Given the description of an element on the screen output the (x, y) to click on. 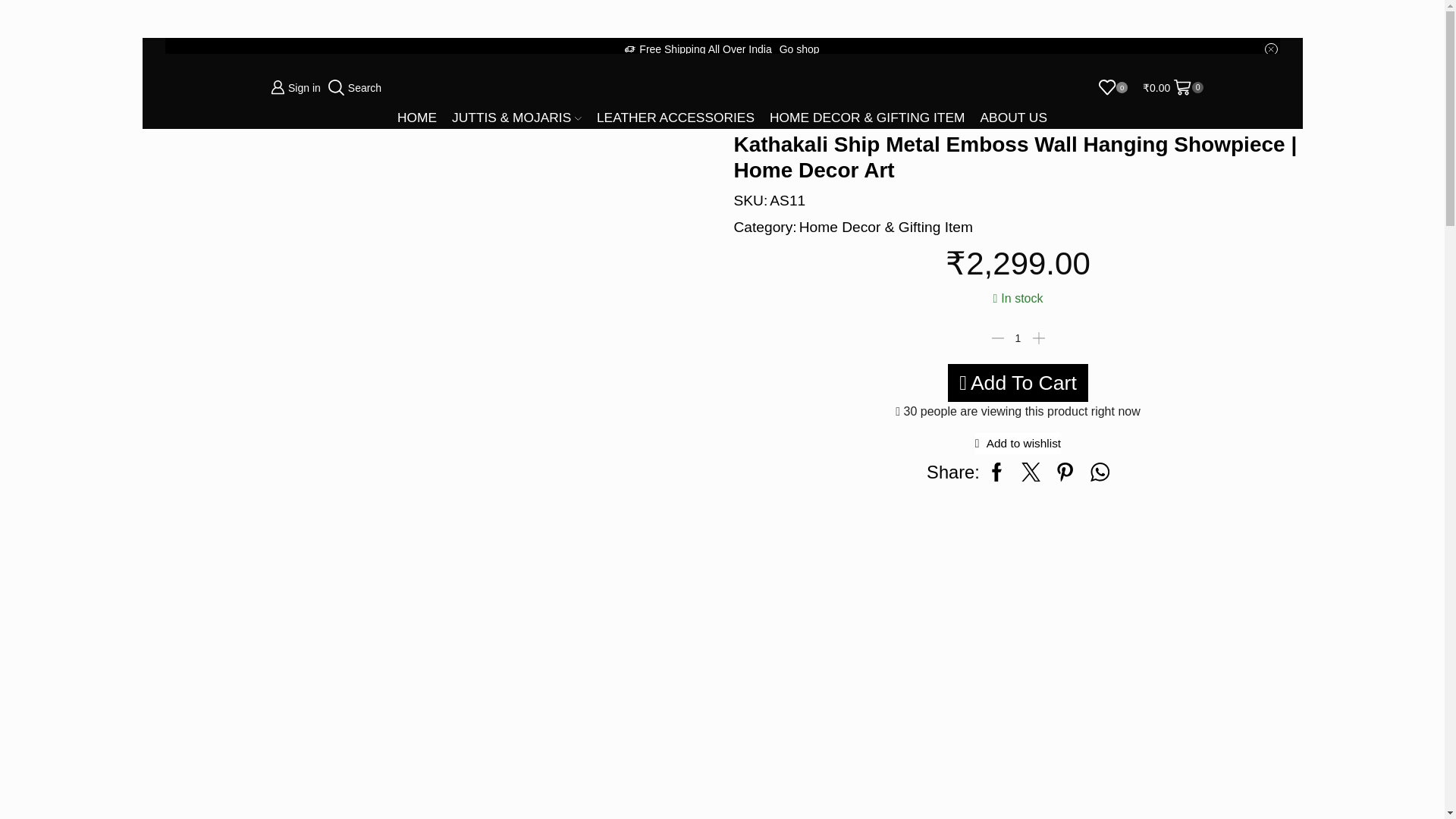
Sign in (295, 86)
0 (1112, 87)
Return to previous page (1210, 54)
Add to wishlist (1018, 443)
Log in (395, 337)
Go shop (798, 48)
Add To Cart (1017, 382)
ABOUT US (1012, 116)
Home (182, 54)
LEATHER ACCESSORIES (675, 116)
